Given the description of an element on the screen output the (x, y) to click on. 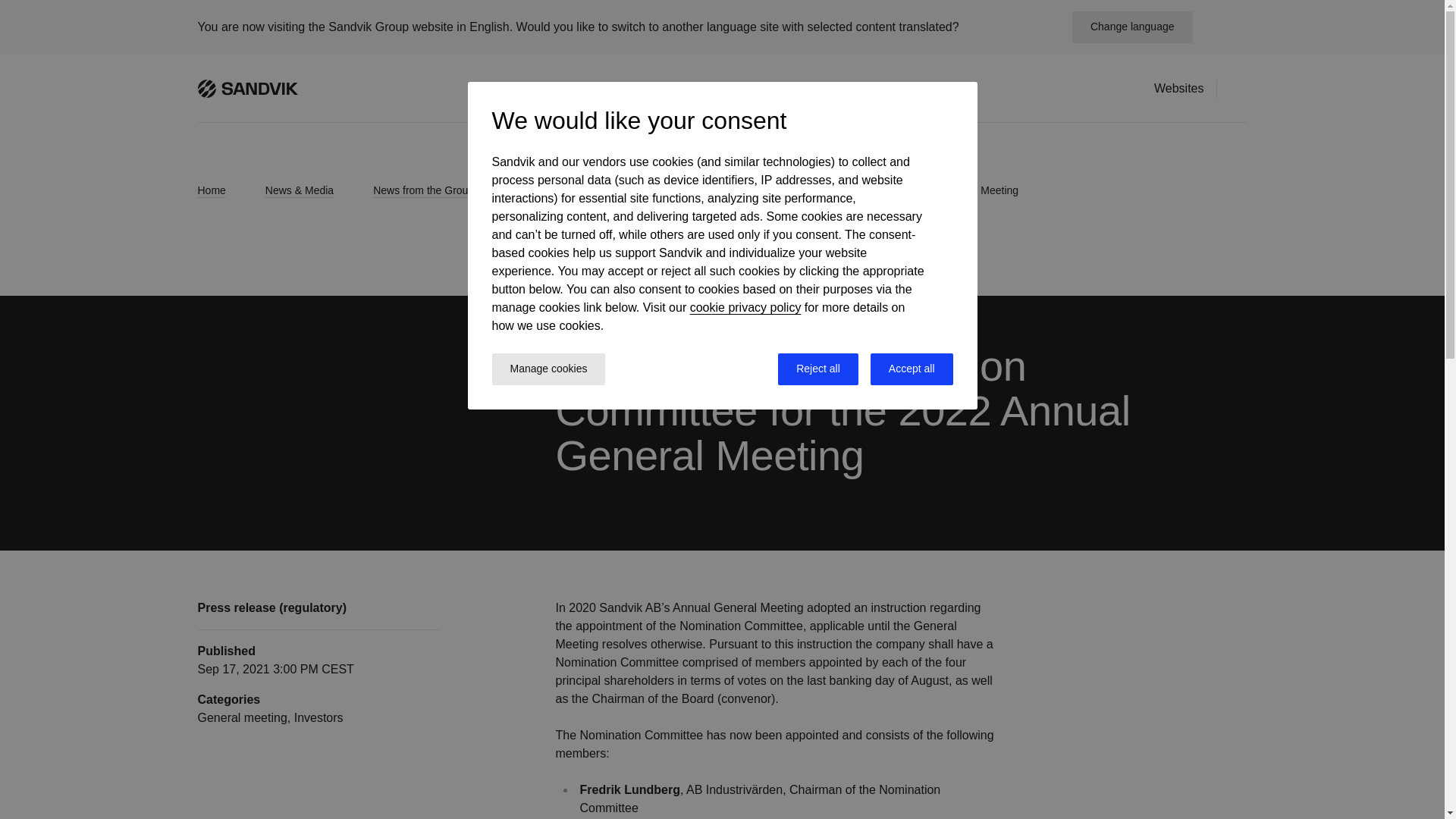
Careers (692, 87)
News from the Group (436, 190)
2021 (538, 190)
Stories (860, 87)
Search (1237, 87)
Home (223, 190)
Close (1225, 26)
Websites (1179, 87)
Change language (1131, 27)
Offerings (548, 87)
September (615, 190)
About us (926, 87)
Investors (622, 87)
